Given the description of an element on the screen output the (x, y) to click on. 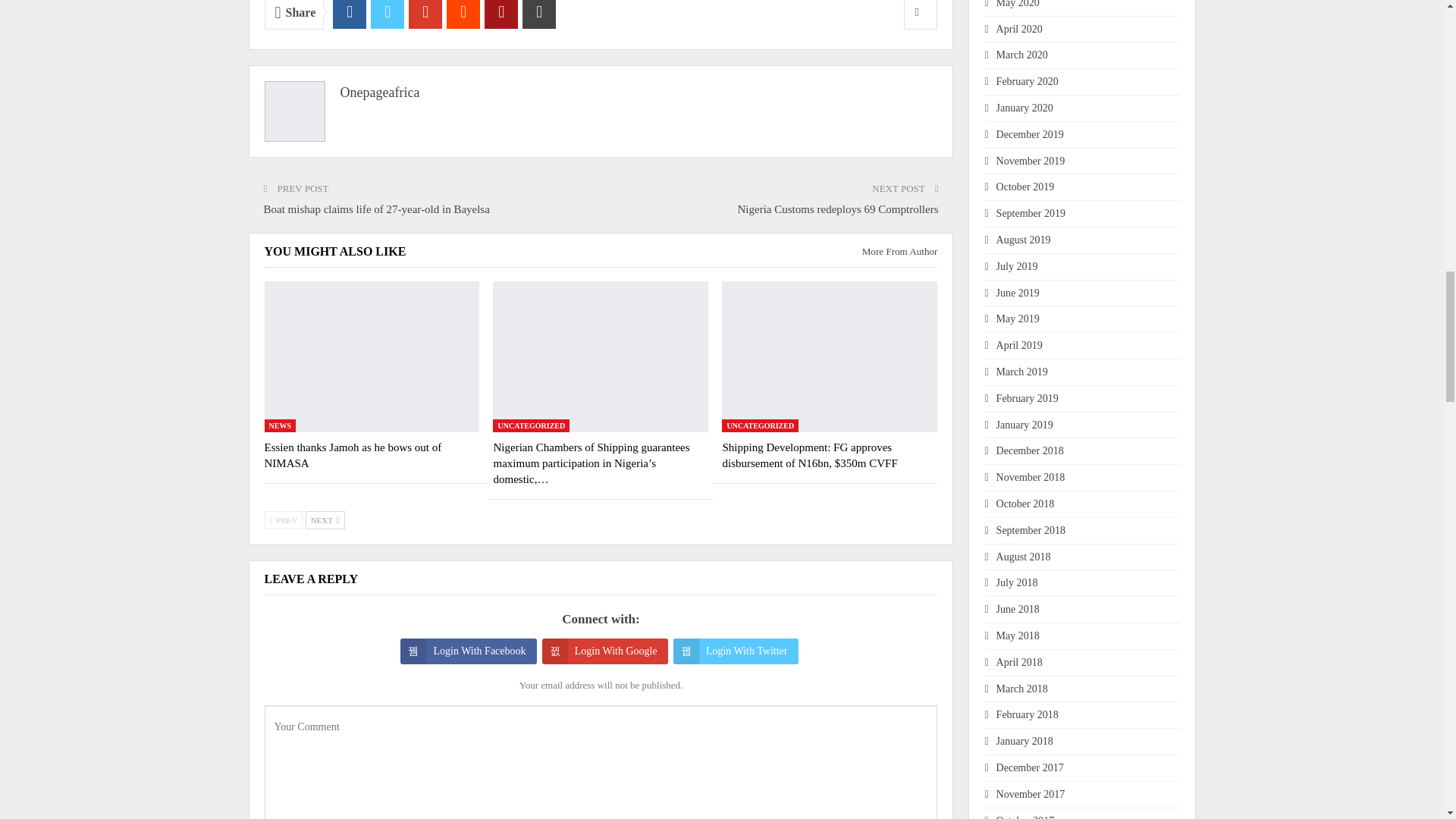
Previous (282, 520)
Essien thanks Jamoh as he bows out of NIMASA (352, 455)
Essien thanks Jamoh as he bows out of NIMASA (371, 356)
Next (325, 520)
